Given the description of an element on the screen output the (x, y) to click on. 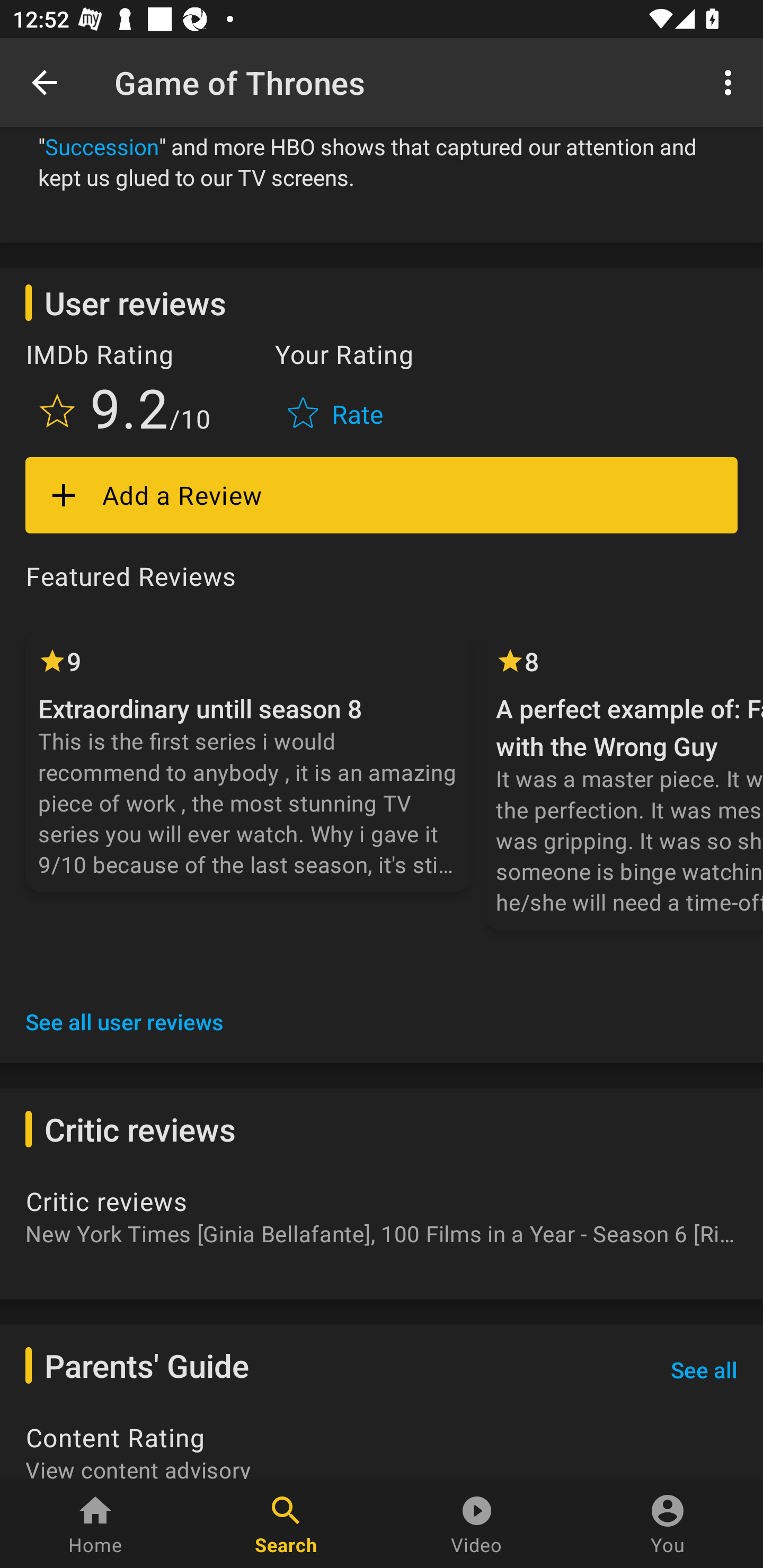
More options (731, 81)
Your Rating Rate (337, 390)
Add a Review (381, 495)
See all user reviews (124, 1021)
See all See all  (703, 1369)
Content Rating View content advisory (381, 1449)
Home (95, 1523)
Video (476, 1523)
You (667, 1523)
